Given the description of an element on the screen output the (x, y) to click on. 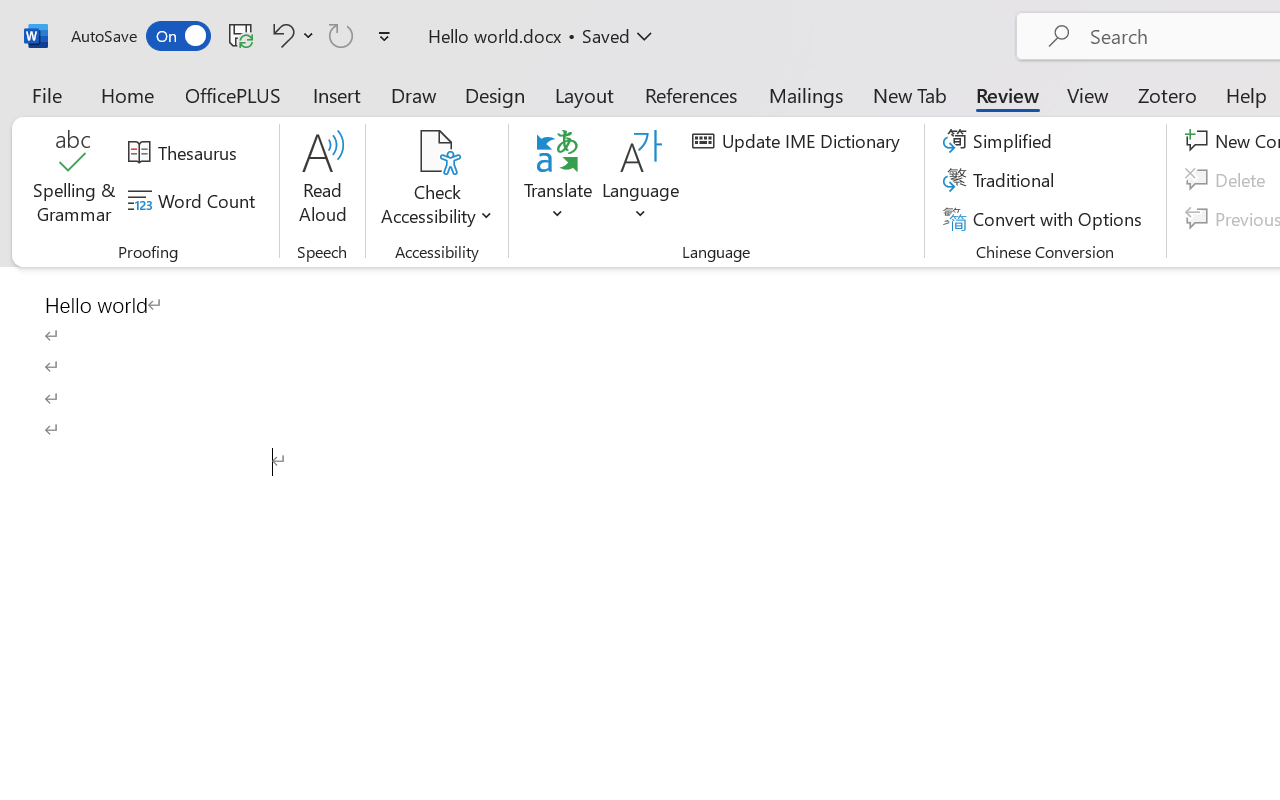
OfficePLUS (233, 94)
Draw (413, 94)
More Options (436, 208)
Check Accessibility (436, 179)
Translate (558, 179)
Home (127, 94)
